Given the description of an element on the screen output the (x, y) to click on. 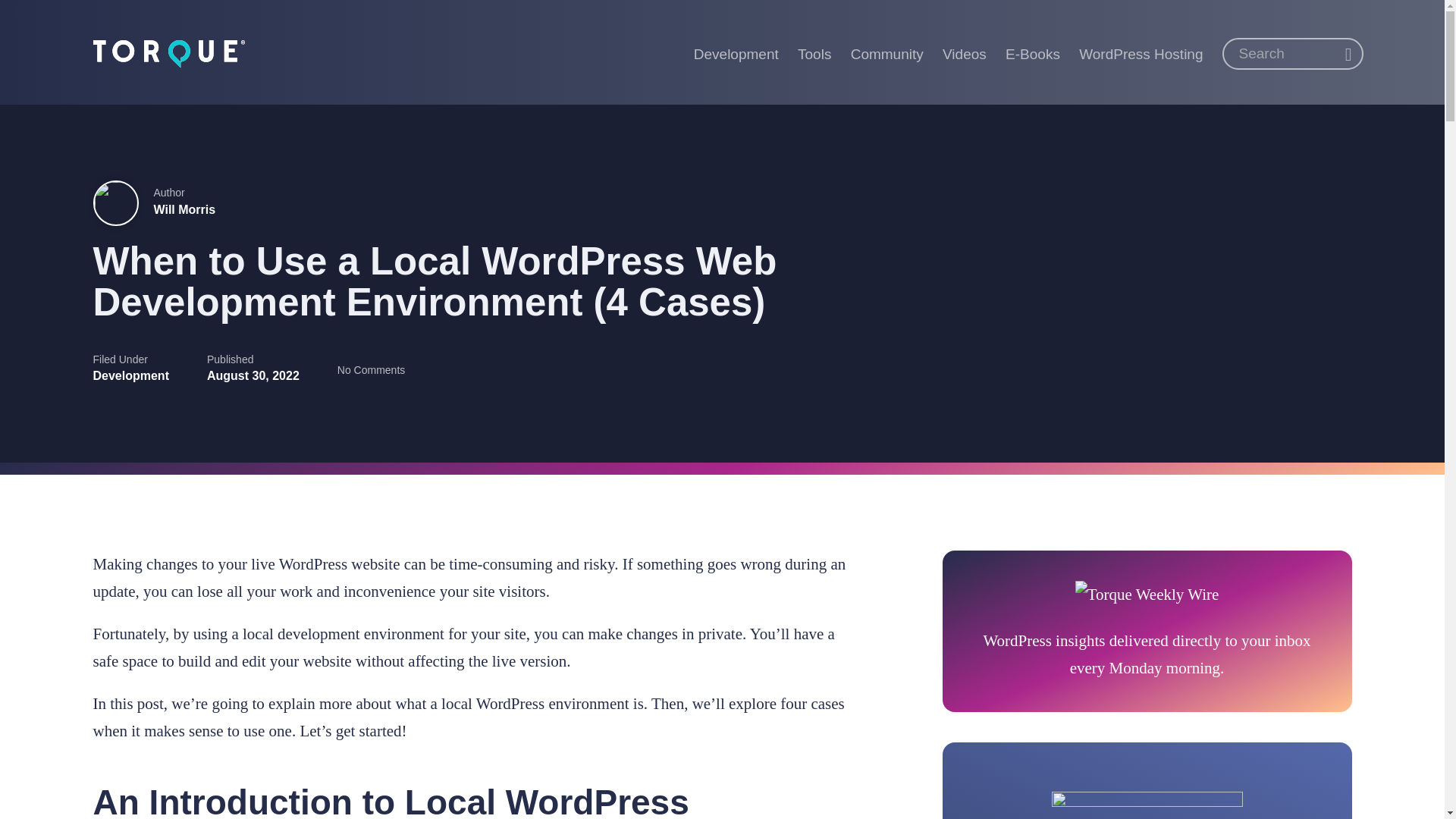
WordPress Hosting (1141, 52)
Development (736, 52)
Torque (168, 52)
Development (130, 375)
Will Morris (183, 209)
